Given the description of an element on the screen output the (x, y) to click on. 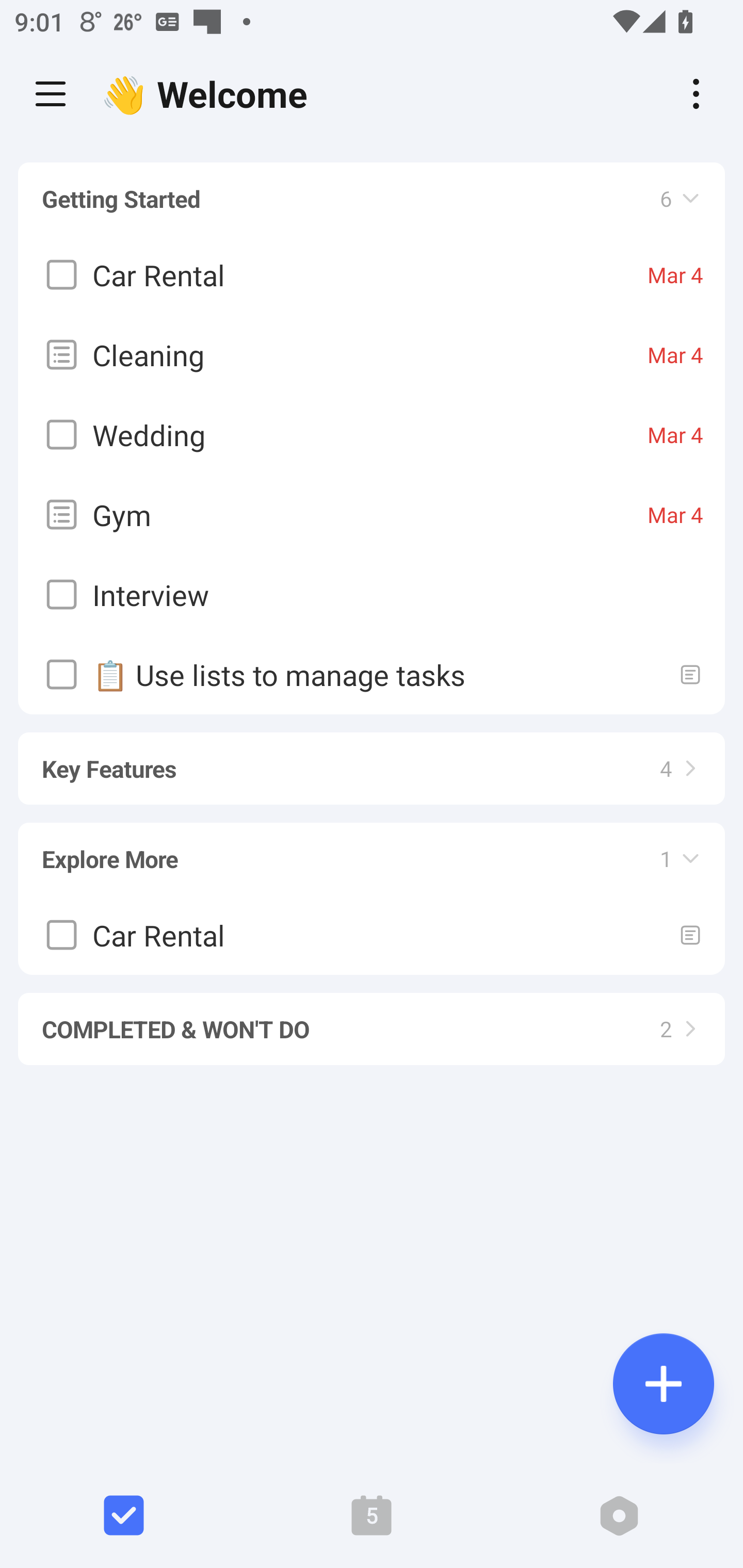
👋 Welcome (209, 93)
Getting Started 6 (371, 199)
Car Rental Mar 4 (371, 275)
Mar 4 (675, 275)
Cleaning Mar 4 (371, 355)
Mar 4 (675, 355)
Wedding Mar 4 (371, 435)
Mar 4 (675, 435)
Gym Mar 4 (371, 515)
Mar 4 (675, 514)
Interview (371, 595)
📋 Use lists to manage tasks (371, 675)
Key Features 4 (371, 759)
Explore More 1 (371, 849)
Car Rental (371, 935)
COMPLETED & WON'T DO 2 (371, 1019)
